Given the description of an element on the screen output the (x, y) to click on. 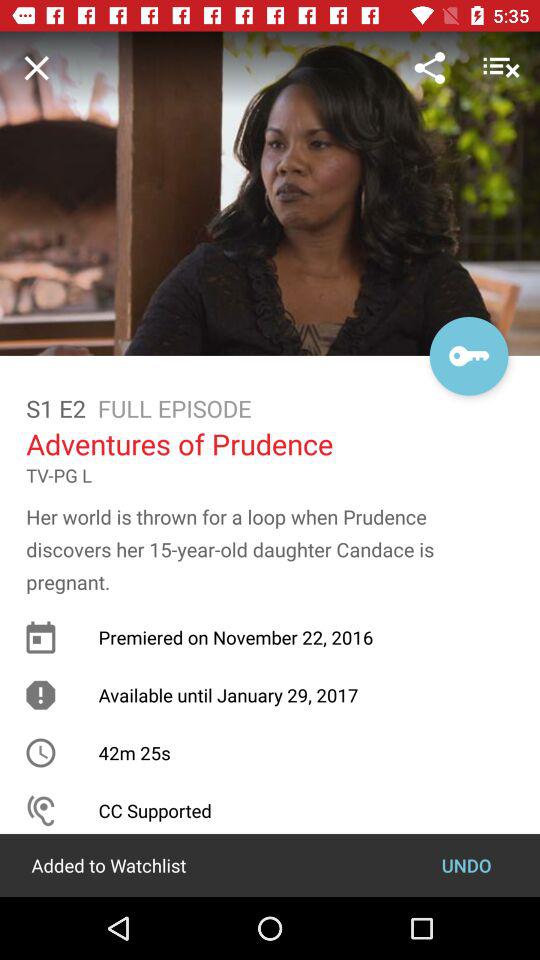
choose item to the right of added to watchlist icon (466, 864)
